Given the description of an element on the screen output the (x, y) to click on. 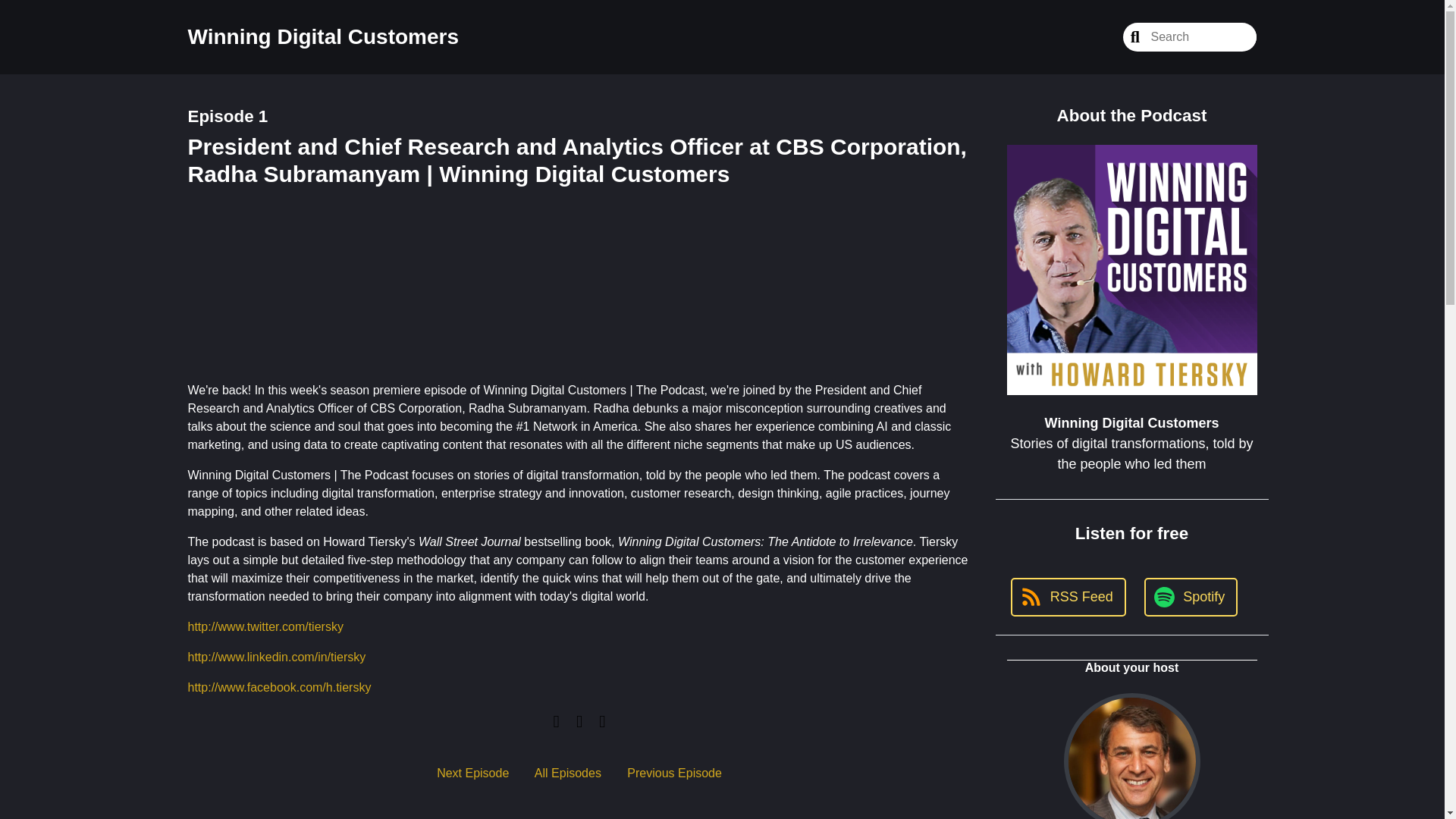
All Episodes (567, 772)
Spotify (1190, 365)
Next Episode (472, 772)
Previous Episode (674, 772)
RSS Feed (1067, 365)
